Given the description of an element on the screen output the (x, y) to click on. 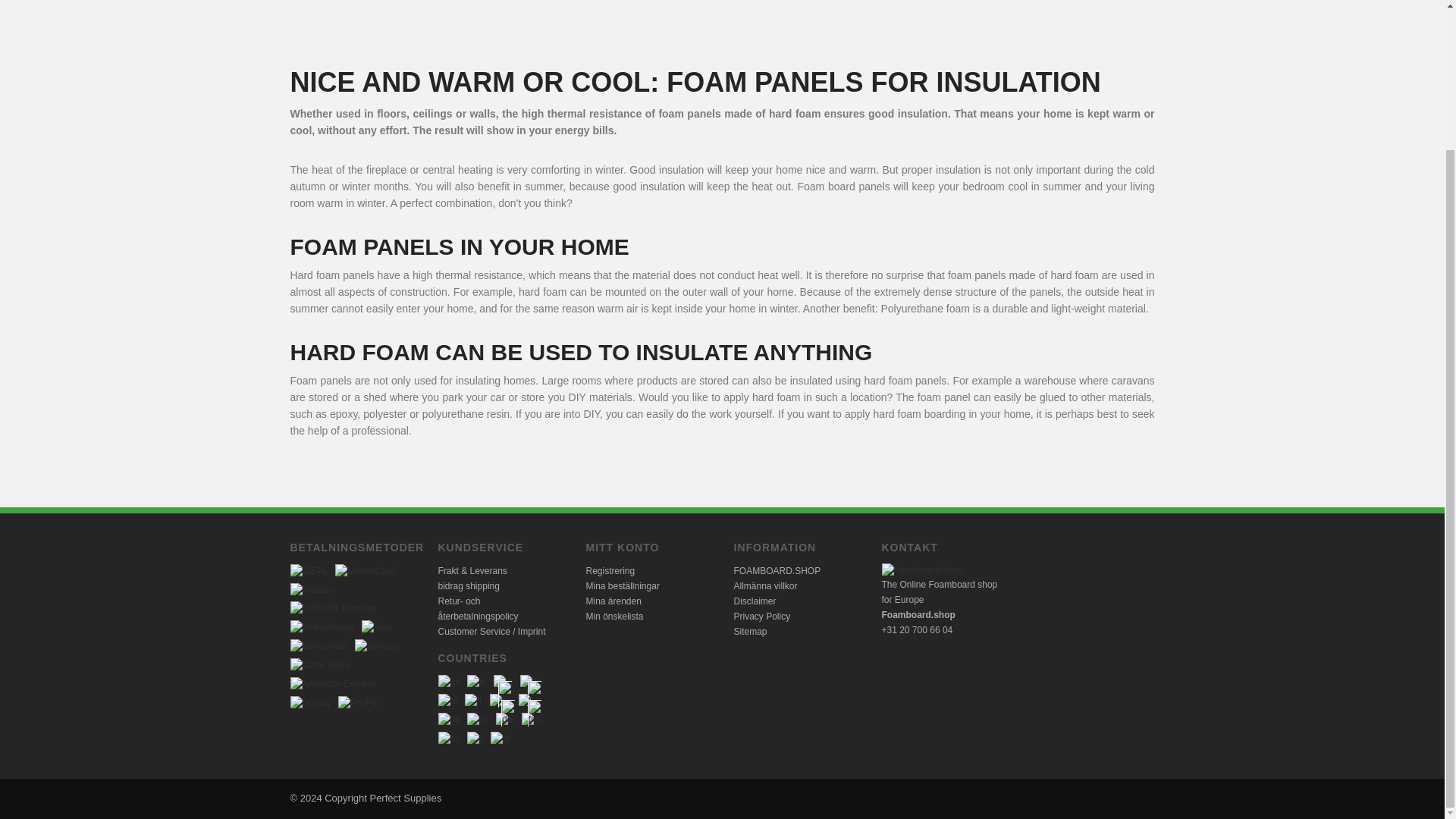
Betalningsmetoder (331, 608)
Betalningsmetoder (308, 570)
Betalningsmetoder (364, 570)
Betalningsmetoder (311, 589)
